Given the description of an element on the screen output the (x, y) to click on. 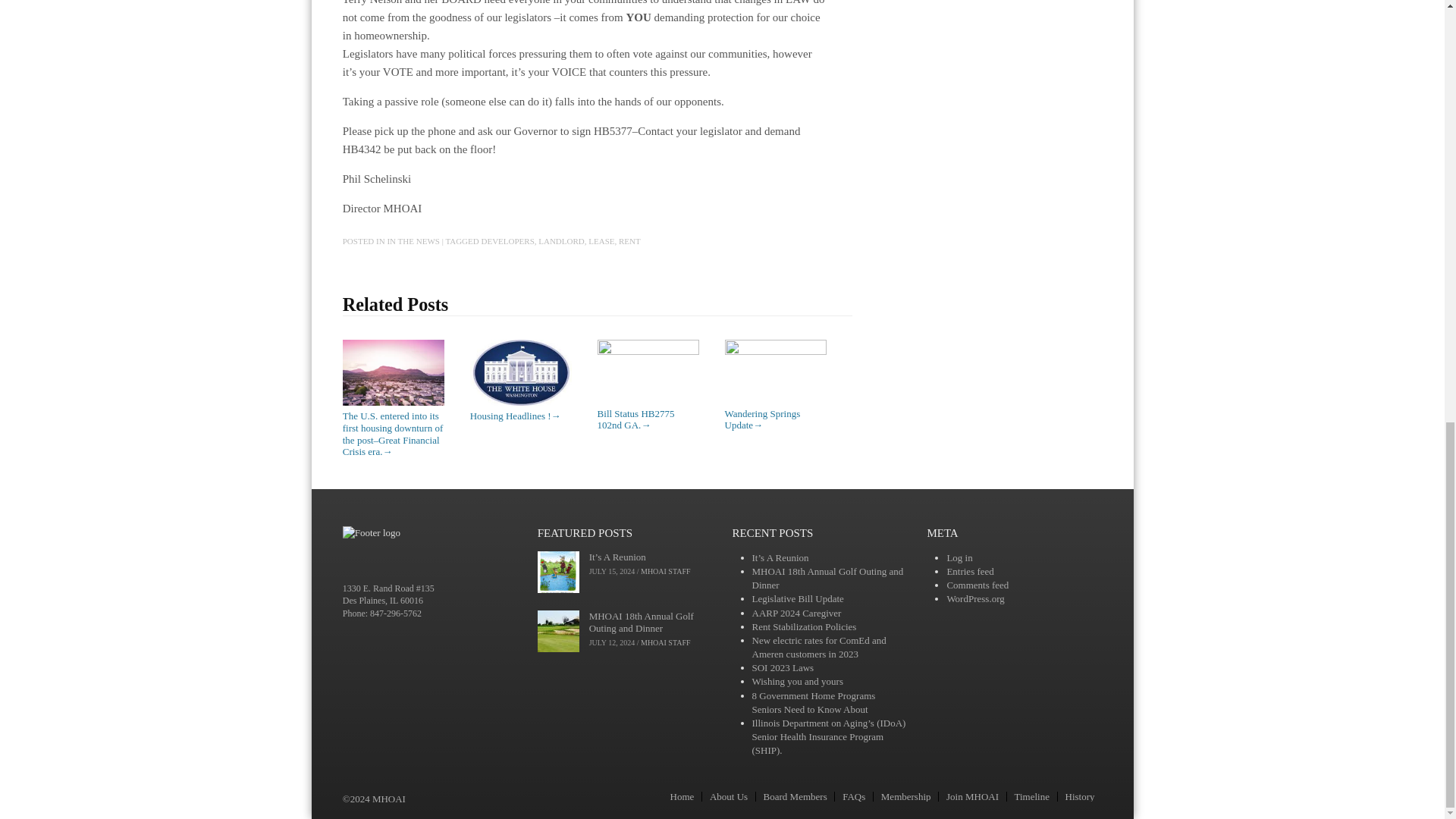
Monday, July 15th, 2024, 4:05 pm (611, 571)
LEASE (601, 240)
DEVELOPERS (507, 240)
LANDLORD (561, 240)
RENT (629, 240)
MHOAI Staff (665, 571)
IN THE NEWS (413, 240)
